Given the description of an element on the screen output the (x, y) to click on. 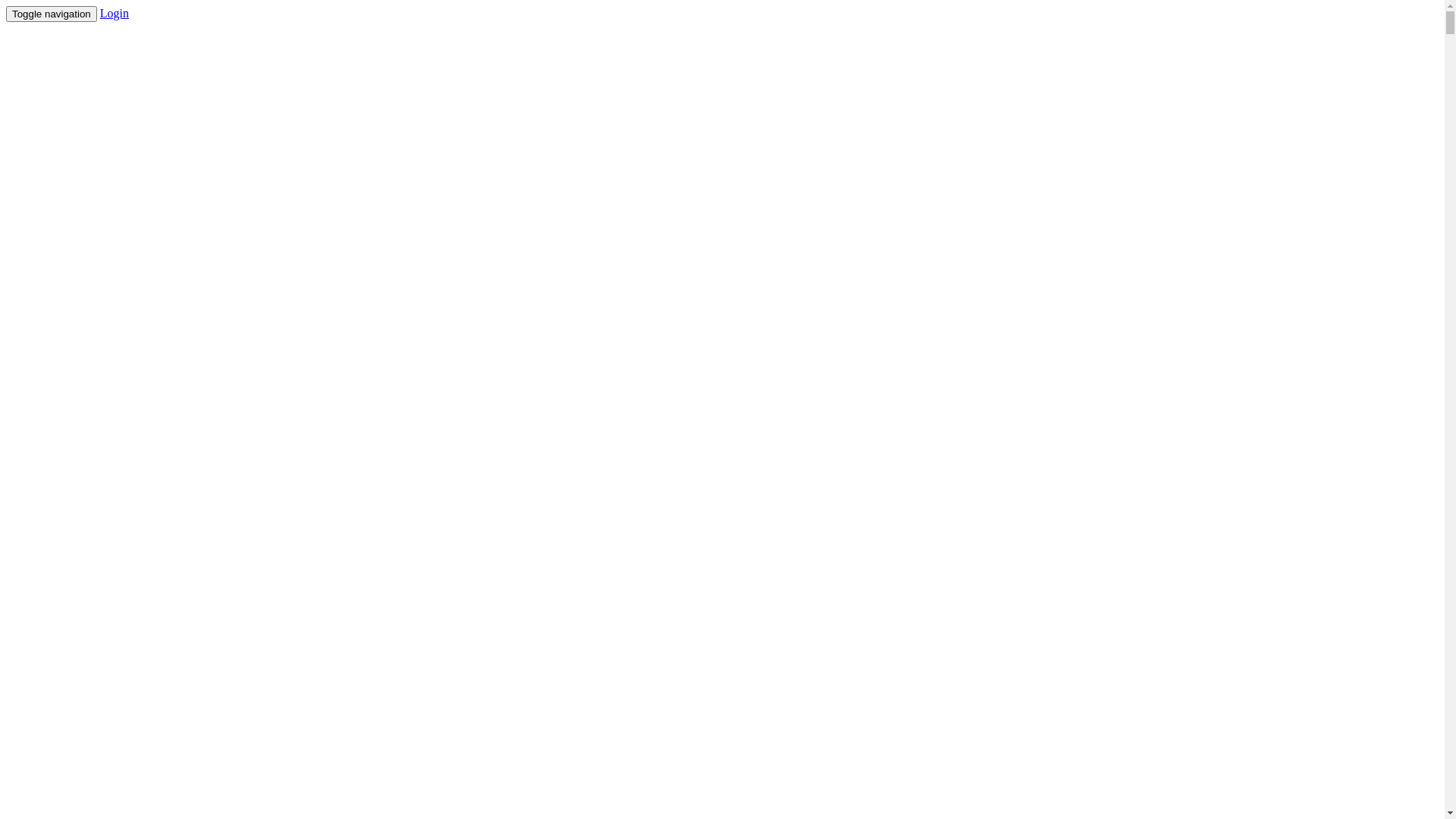
Login Element type: text (114, 12)
Toggle navigation Element type: text (51, 13)
